Given the description of an element on the screen output the (x, y) to click on. 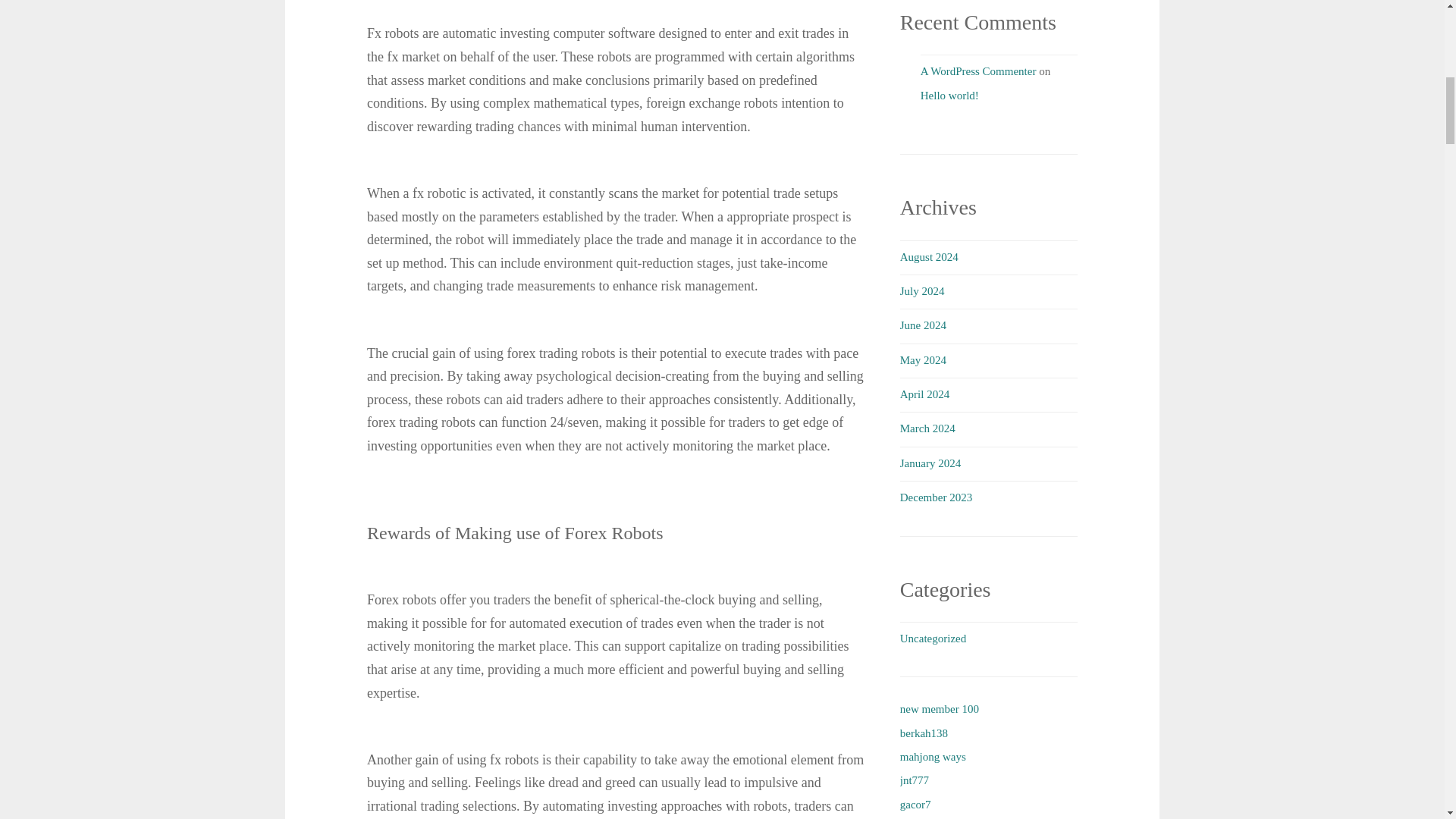
January 2024 (929, 463)
April 2024 (924, 394)
mahjong ways (932, 756)
March 2024 (927, 428)
June 2024 (922, 325)
berkah138 (923, 733)
jnt777 (913, 779)
Hello world! (949, 95)
Uncategorized (932, 638)
December 2023 (935, 497)
gacor7 (915, 804)
May 2024 (922, 359)
new member 100 (938, 708)
A WordPress Commenter (978, 70)
August 2024 (928, 256)
